Given the description of an element on the screen output the (x, y) to click on. 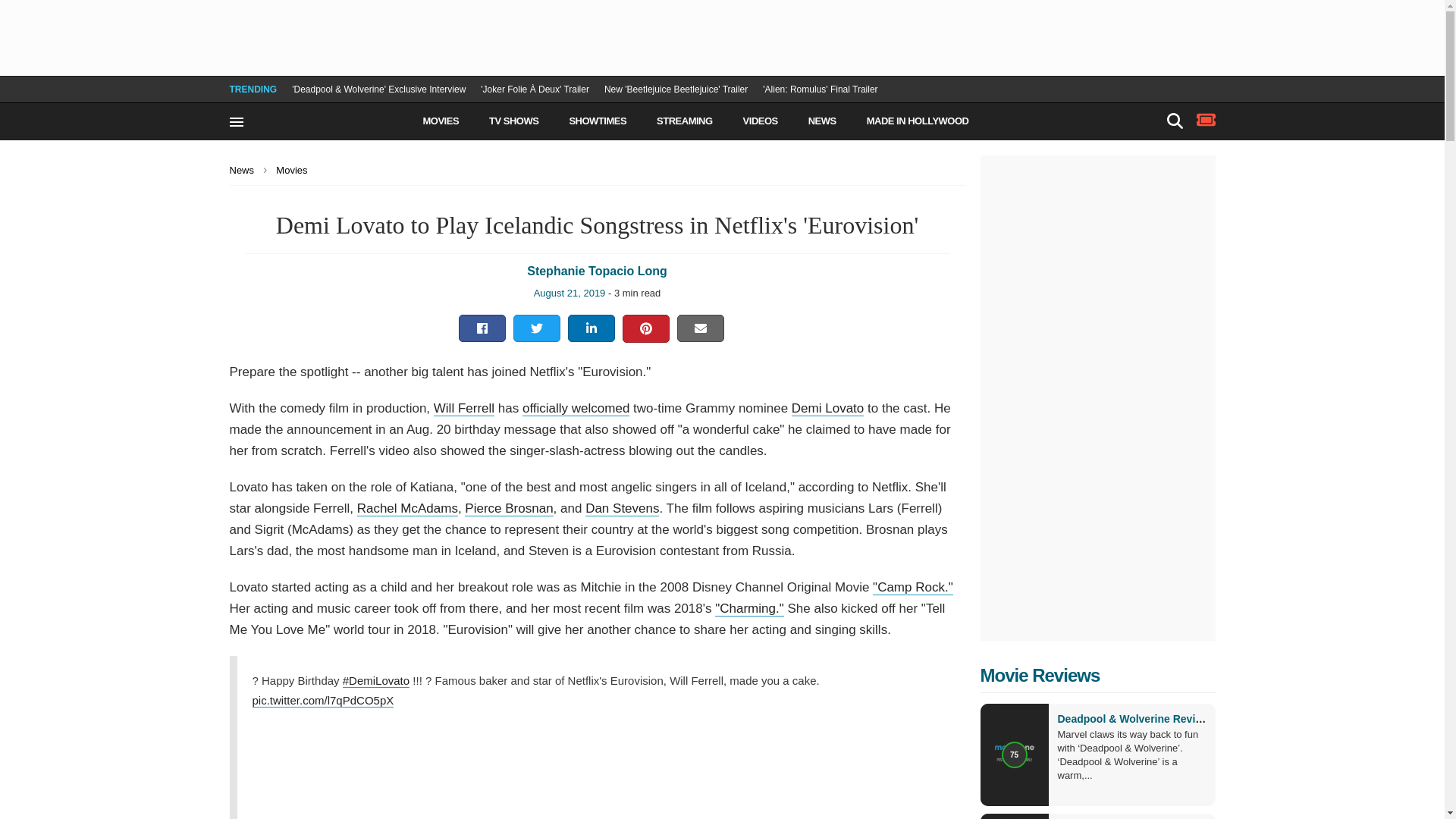
Moviefone (331, 116)
VIDEOS (759, 120)
Share on Facebook (482, 328)
Share on Email (700, 328)
SHOWTIMES (597, 120)
'Alien: Romulus' Final Trailer (819, 89)
MADE IN HOLLYWOOD (917, 120)
Share on Pinterest (645, 328)
TV SHOWS (513, 120)
STREAMING (684, 120)
Stephanie Topacio Long (596, 270)
New 'Beetlejuice Beetlejuice' Trailer (676, 89)
Movies (295, 170)
MOVIES (441, 120)
Share on LinkedIn (591, 328)
